Given the description of an element on the screen output the (x, y) to click on. 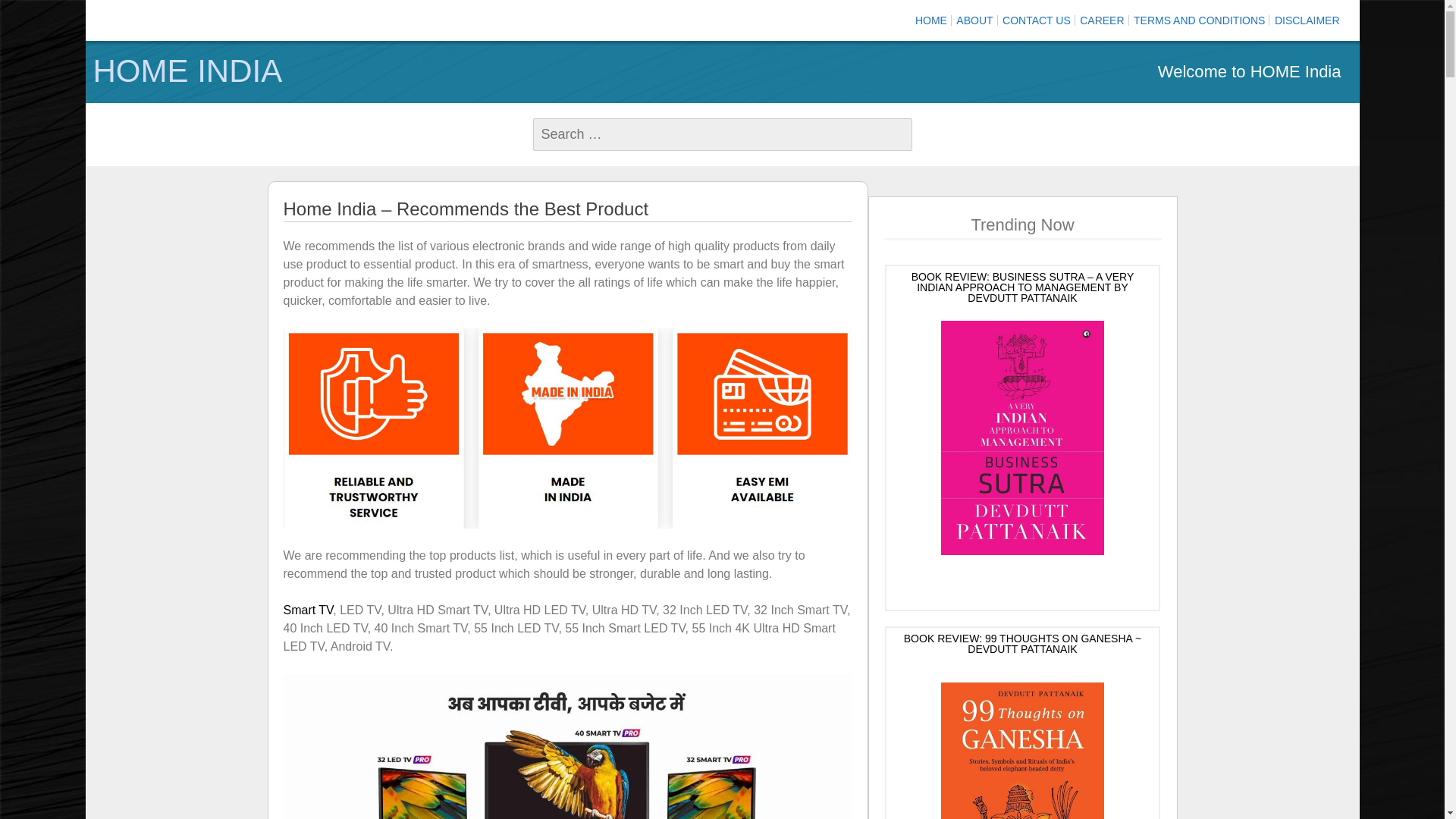
DISCLAIMER (1306, 20)
Search (38, 13)
CAREER (1101, 20)
ABOUT (974, 20)
HOME INDIA (403, 70)
TERMS AND CONDITIONS (1199, 20)
Smart TV (308, 609)
CONTACT US (1036, 20)
HOME (931, 20)
